Given the description of an element on the screen output the (x, y) to click on. 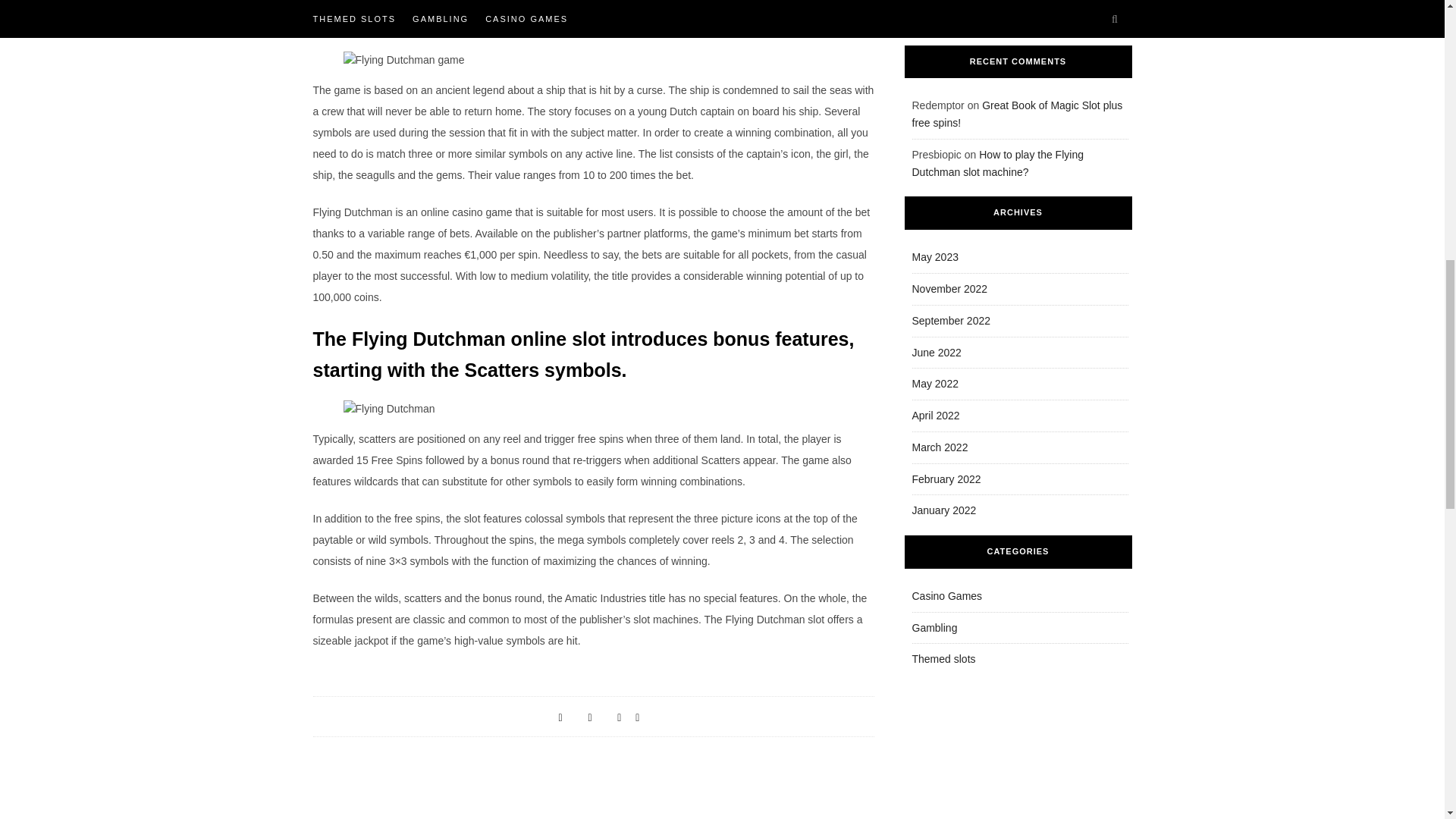
June 2022 (935, 351)
May 2023 (934, 256)
BLACKJACK MH OVERVIEW (795, 817)
April 2022 (935, 415)
February 2022 (945, 479)
Great Book of Magic Slot plus free spins! (1016, 113)
March 2022 (939, 447)
January 2022 (943, 510)
How to play the Flying Dutchman slot machine? (997, 163)
